Given the description of an element on the screen output the (x, y) to click on. 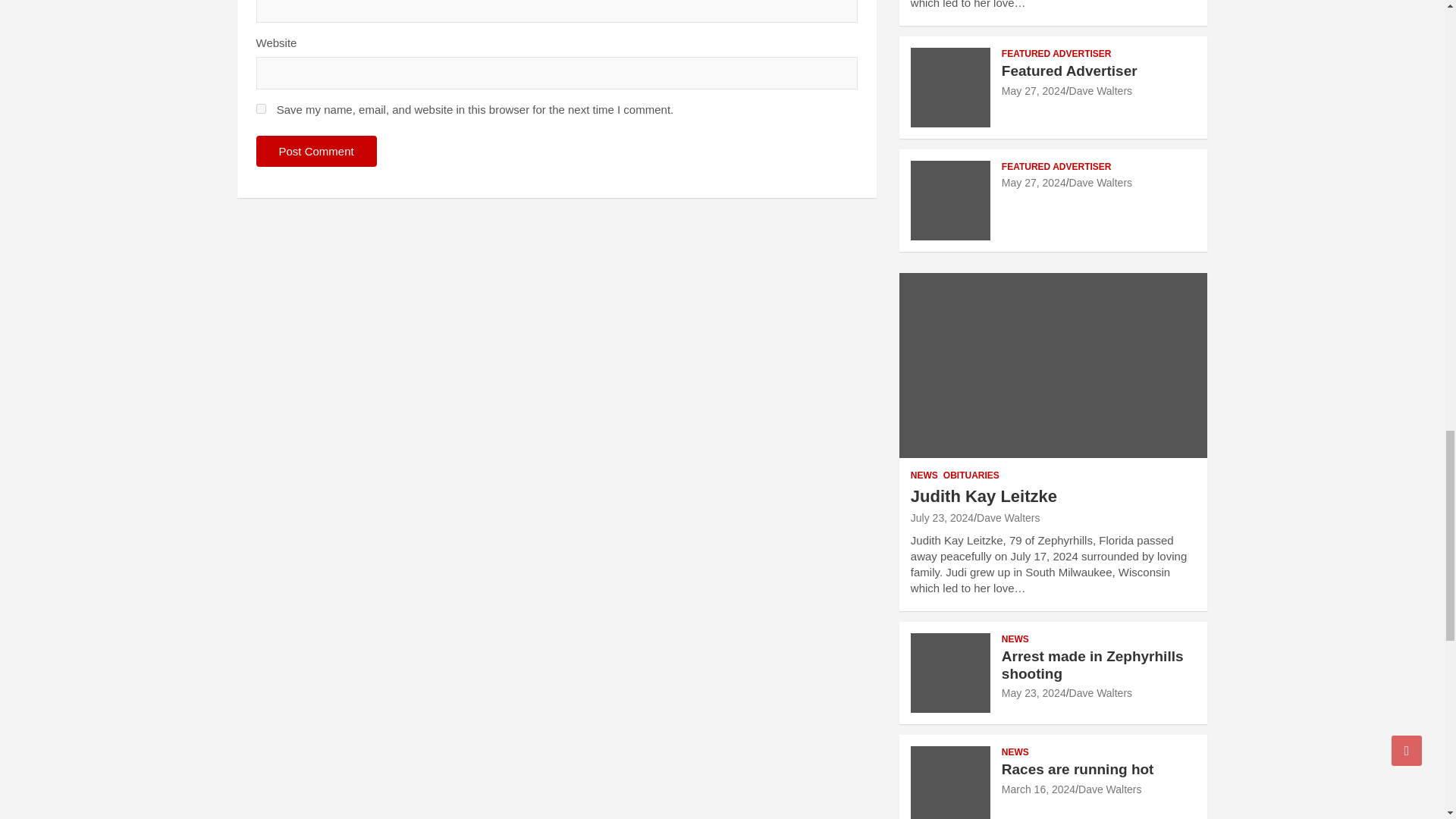
Races are running hot (1038, 788)
Judith Kay Leitzke (942, 517)
yes (261, 108)
Arrest made in Zephyrhills shooting (1033, 693)
Post Comment (316, 151)
Post Comment (316, 151)
Featured Advertiser (1033, 91)
